Given the description of an element on the screen output the (x, y) to click on. 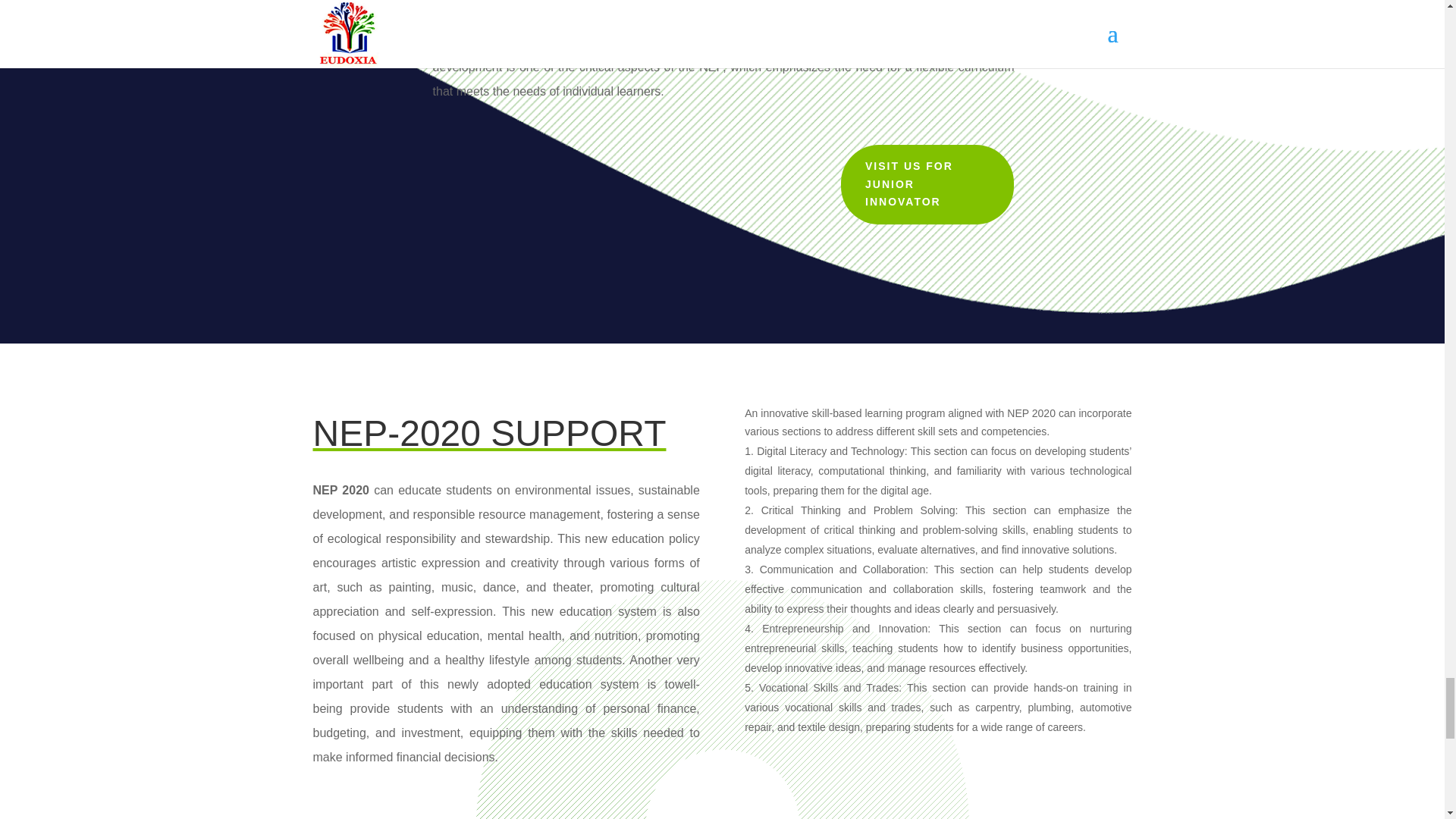
VISIT US FOR JUNIOR INNOVATOR (927, 184)
